Given the description of an element on the screen output the (x, y) to click on. 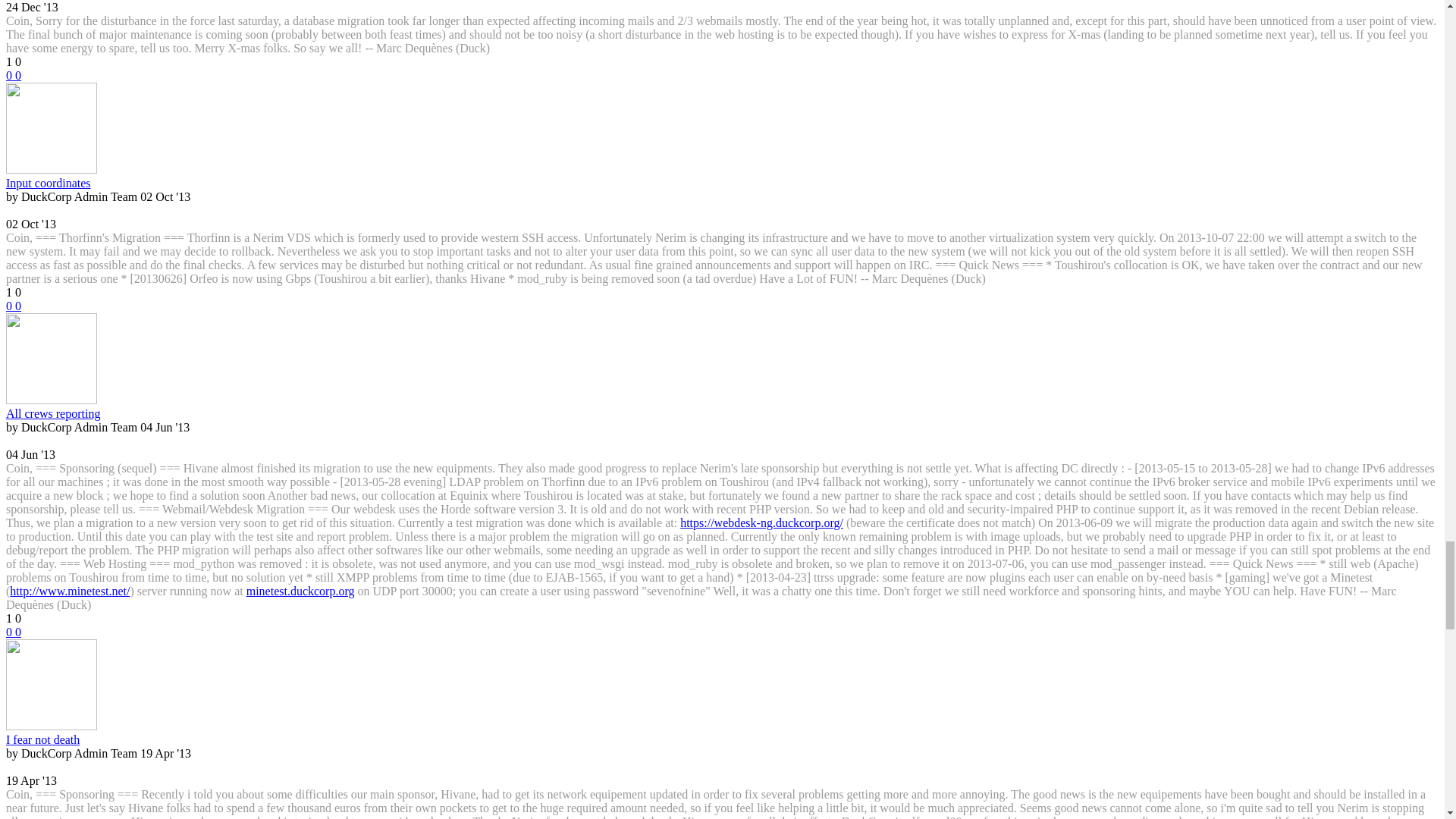
Tuesday, 24 December 2013 17:24:25 (31, 6)
Wednesday, 2 October 2013 19:20:47 (30, 223)
You must be logged-in to vote. (9, 305)
You must be logged-in to vote. (17, 74)
Wednesday, 2 October 2013 19:20:47 (164, 196)
You must be logged-in to vote. (9, 74)
